Given the description of an element on the screen output the (x, y) to click on. 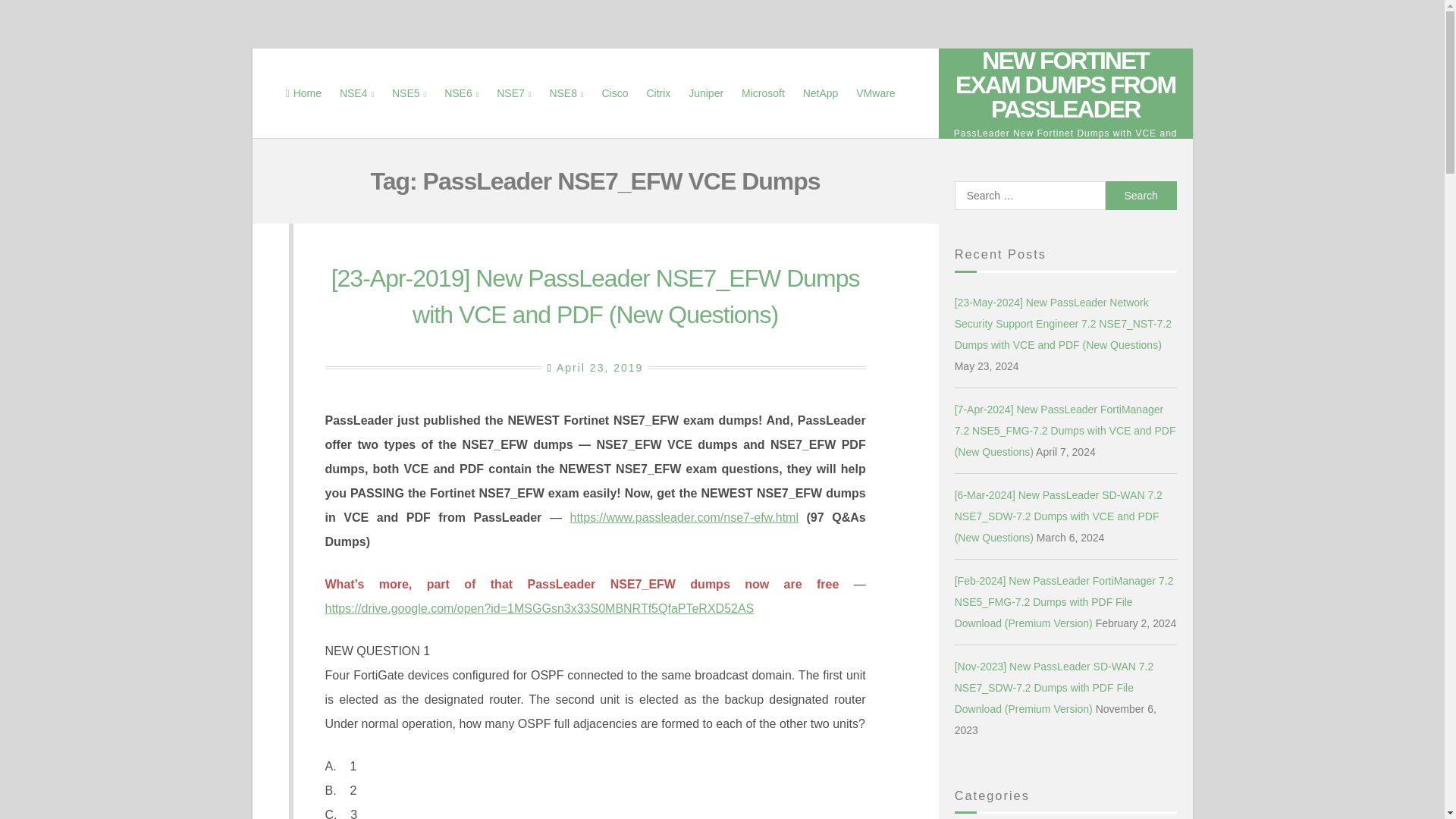
Search (1140, 194)
NSE4 (356, 93)
NSE6 (461, 93)
Search (1140, 194)
NSE5 (408, 93)
NSE7 (513, 93)
NEW FORTINET EXAM DUMPS FROM PASSLEADER (1064, 84)
Home (303, 93)
